Given the description of an element on the screen output the (x, y) to click on. 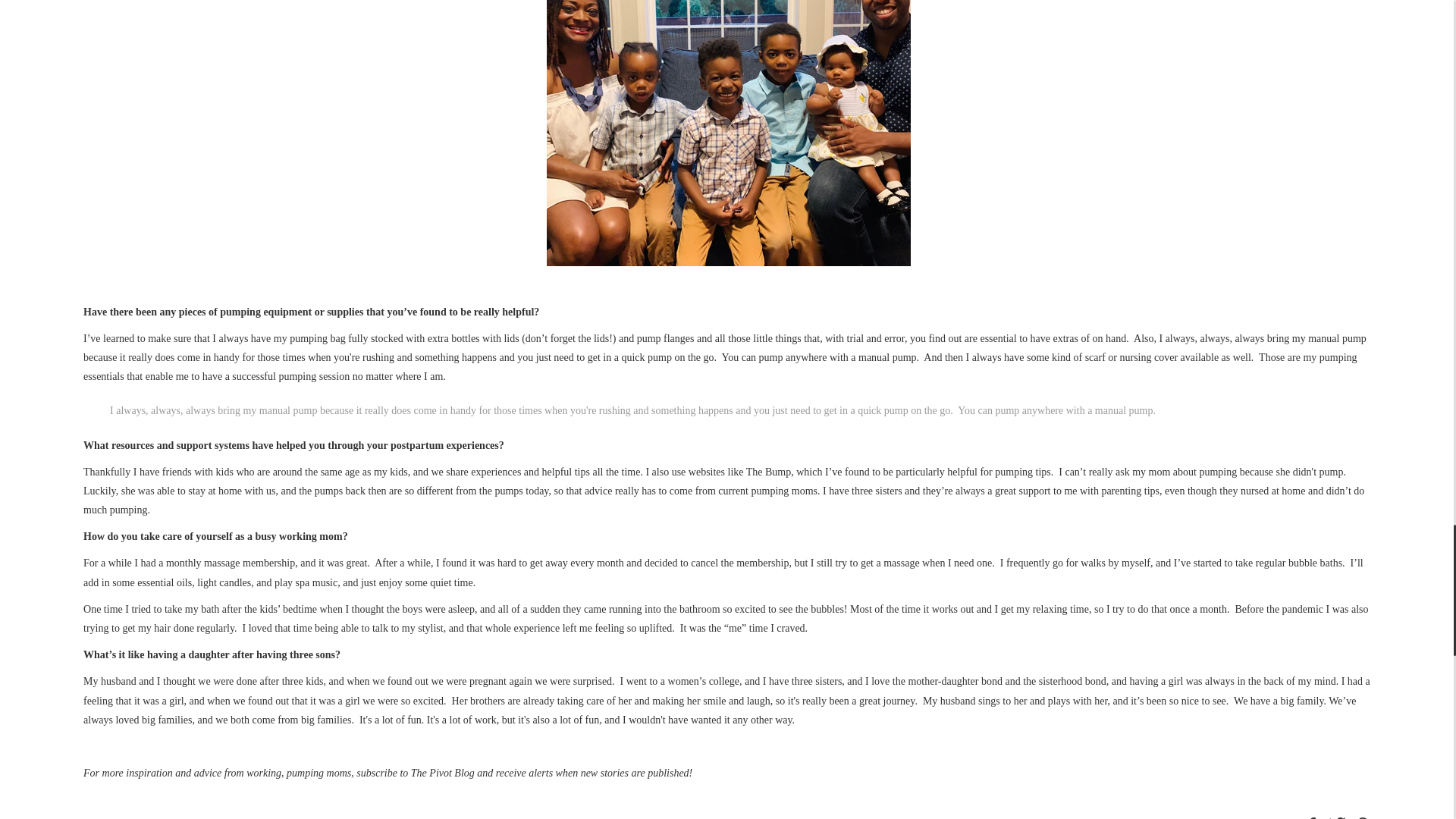
Share on Twitter (1336, 815)
Share on Pinterest (1362, 815)
Share on Facebook (1311, 815)
